Given the description of an element on the screen output the (x, y) to click on. 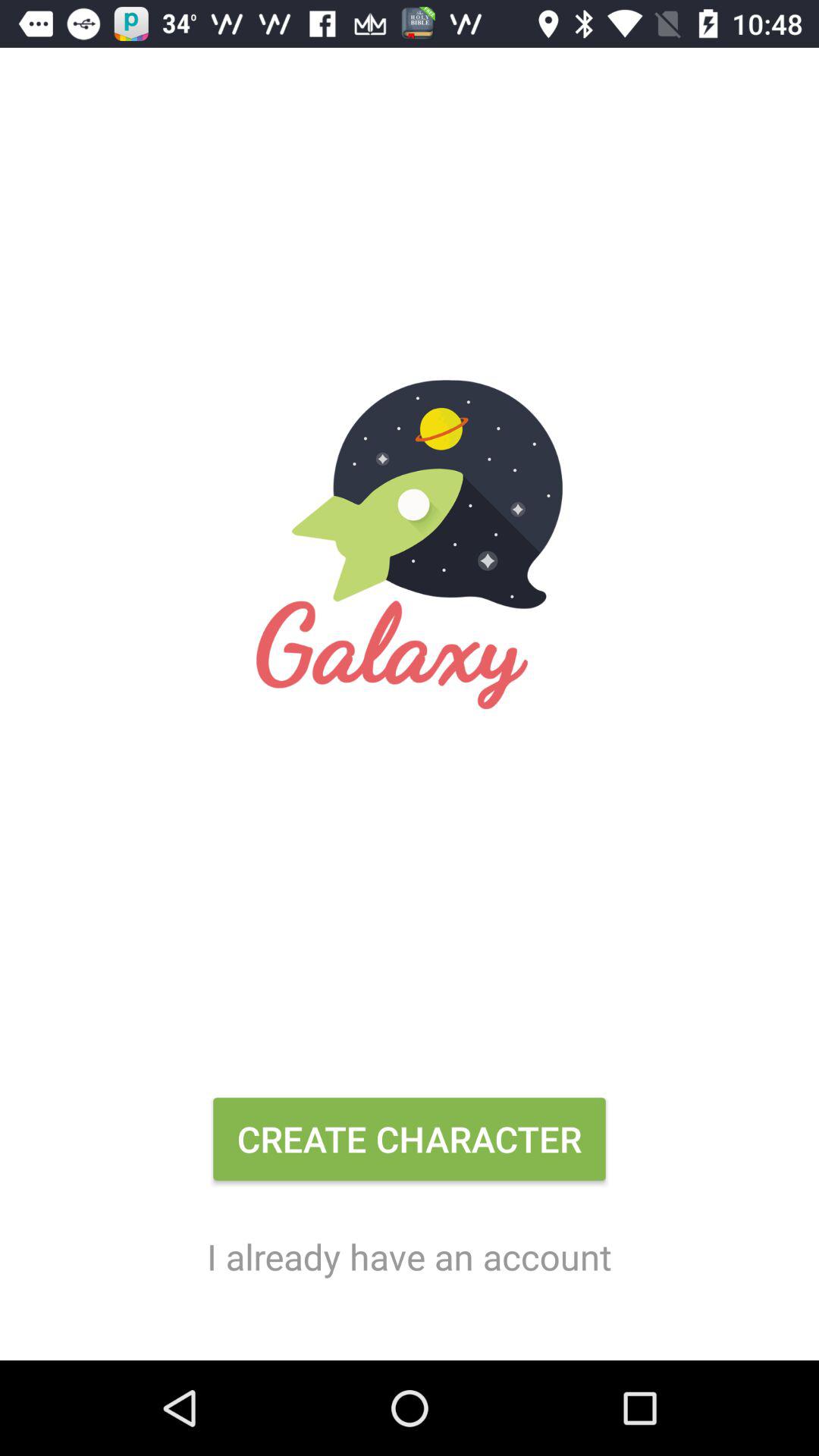
scroll to create character (409, 1145)
